Given the description of an element on the screen output the (x, y) to click on. 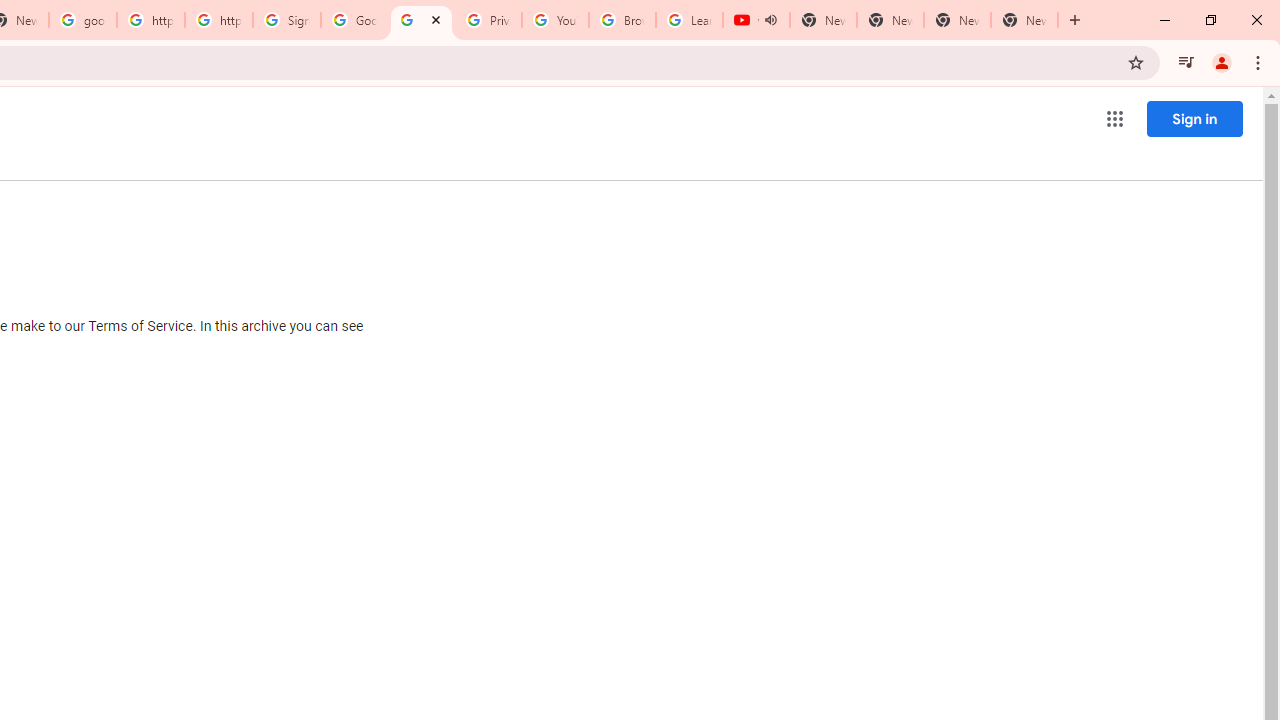
YouTube (555, 20)
Sign in - Google Accounts (287, 20)
